Given the description of an element on the screen output the (x, y) to click on. 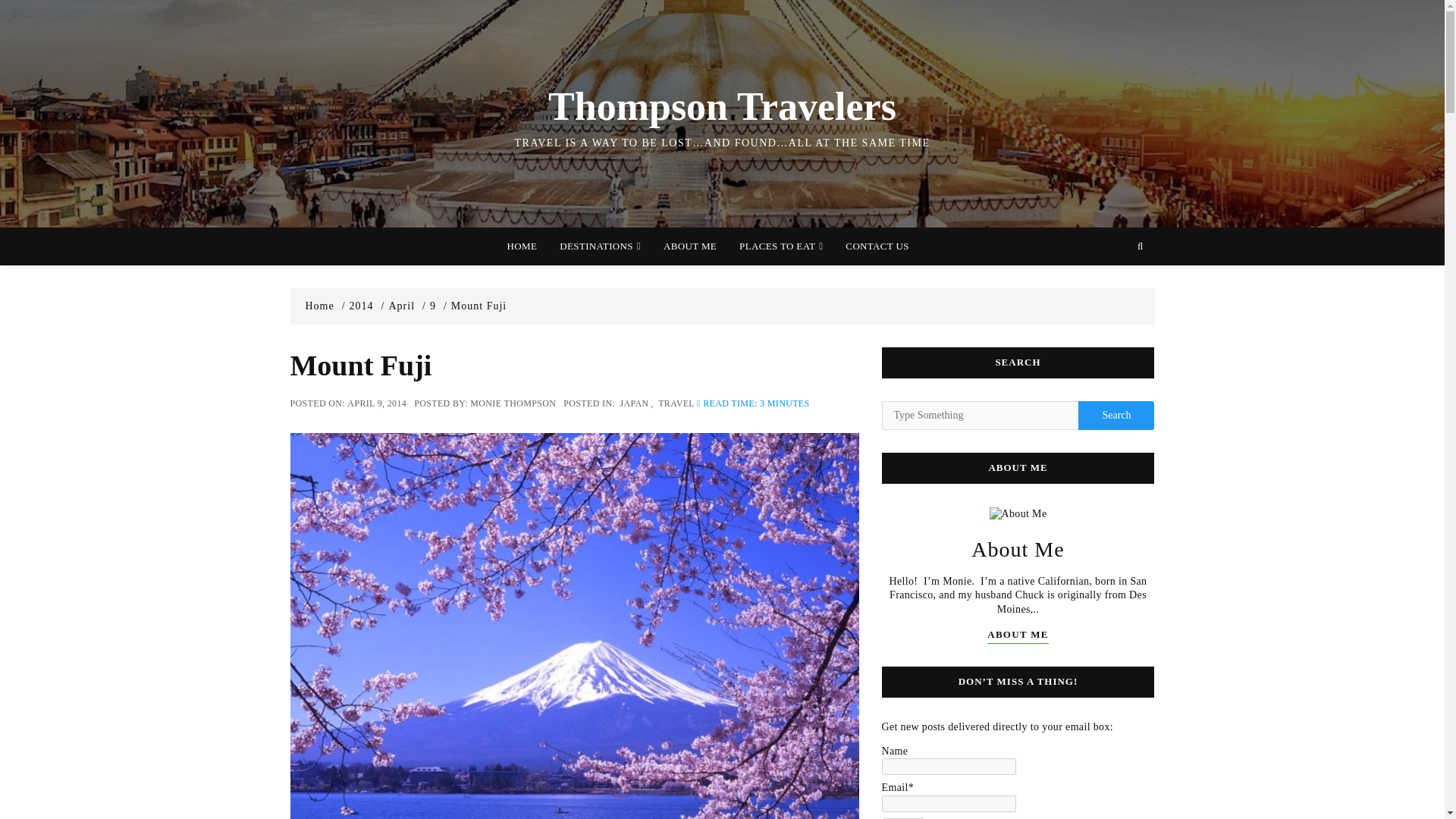
Search (1116, 415)
Submit (901, 818)
HOME (522, 246)
DESTINATIONS (600, 246)
Thompson Travelers (722, 106)
